Given the description of an element on the screen output the (x, y) to click on. 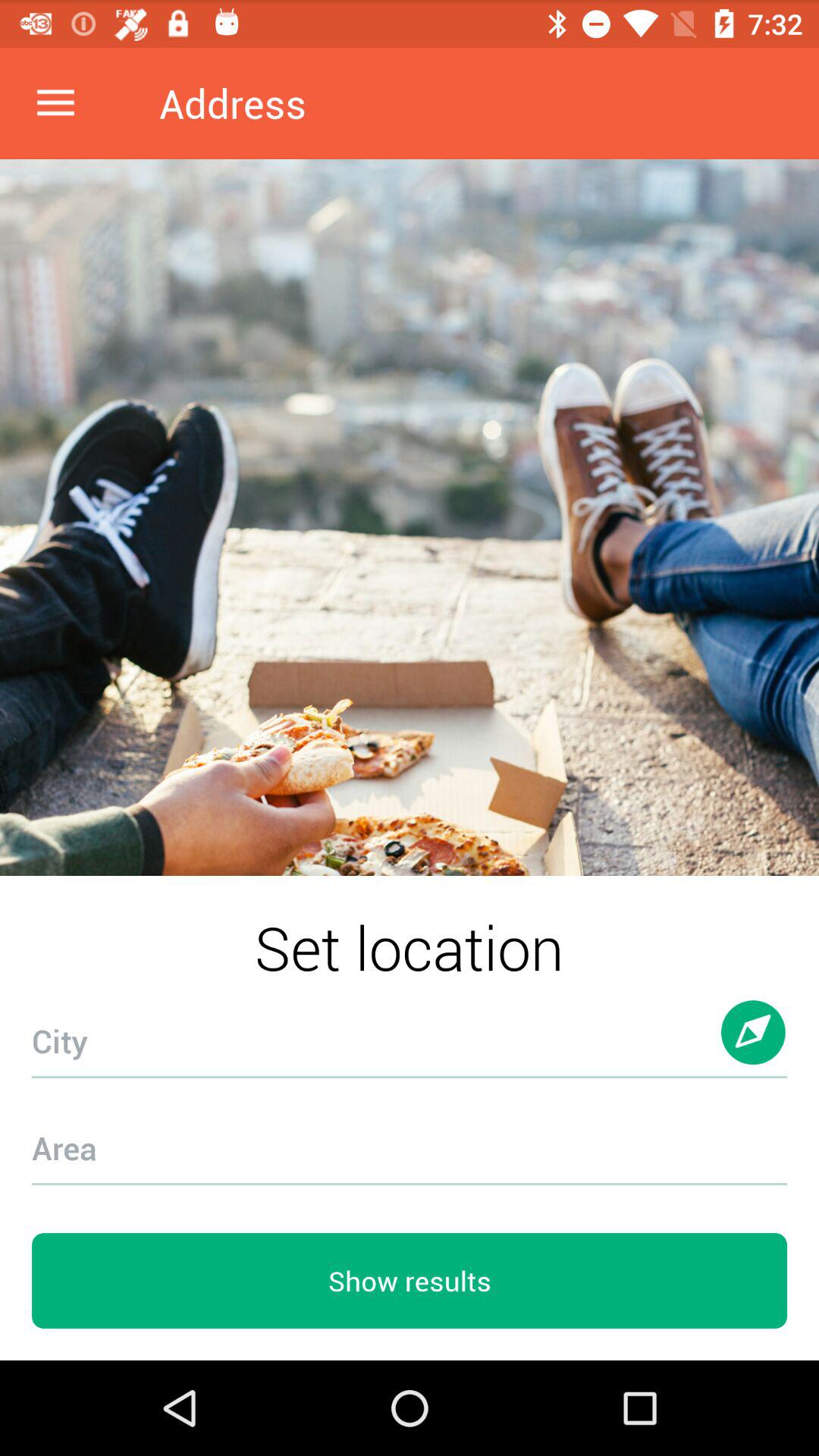
launch the item at the bottom right corner (754, 1047)
